Given the description of an element on the screen output the (x, y) to click on. 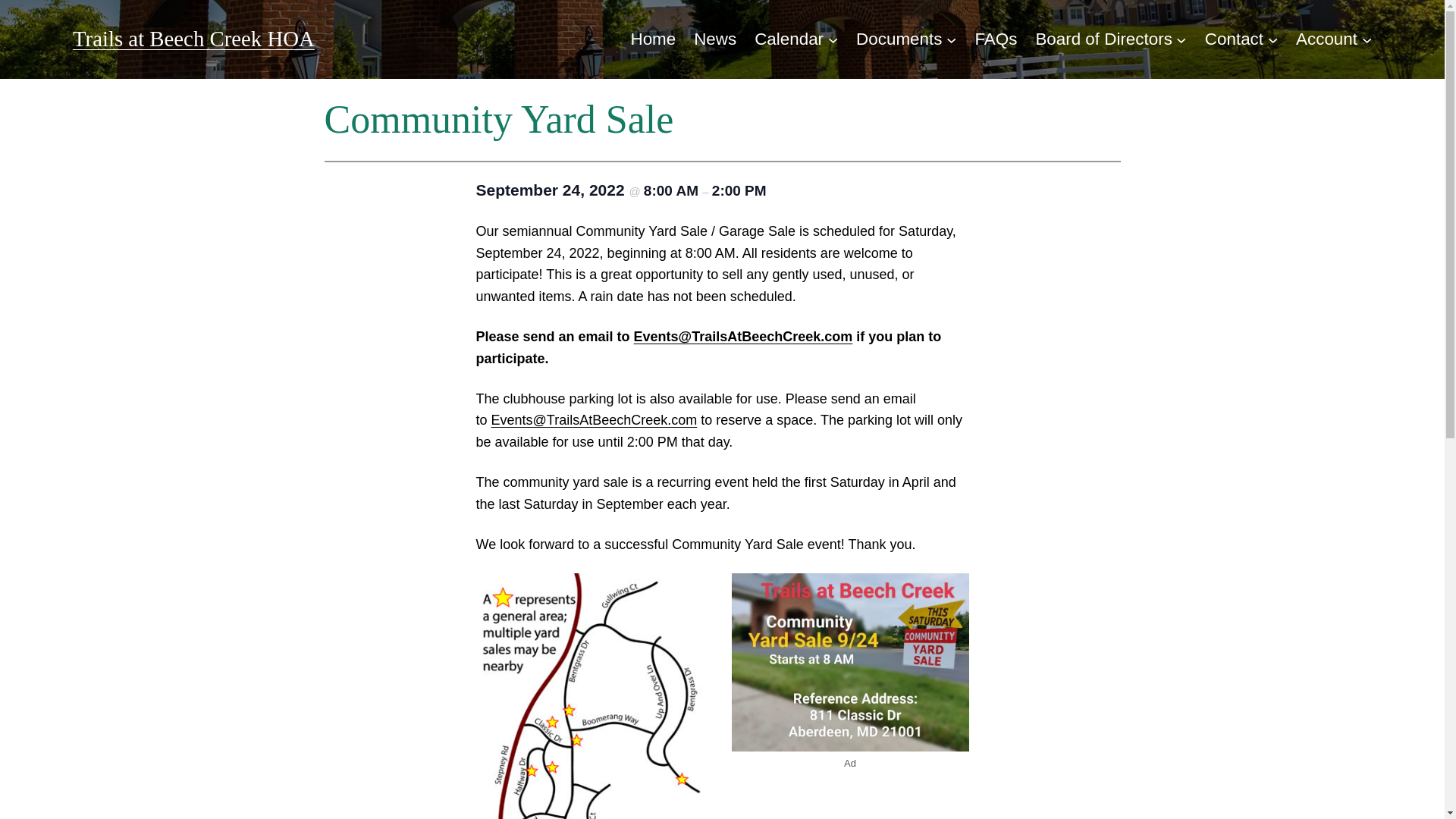
Documents (899, 39)
News (715, 39)
Account (1325, 39)
Calendar (789, 39)
Trails at Beech Creek HOA (193, 38)
Home (652, 39)
FAQs (995, 39)
Board of Directors (1103, 39)
Contact (1234, 39)
